Given the description of an element on the screen output the (x, y) to click on. 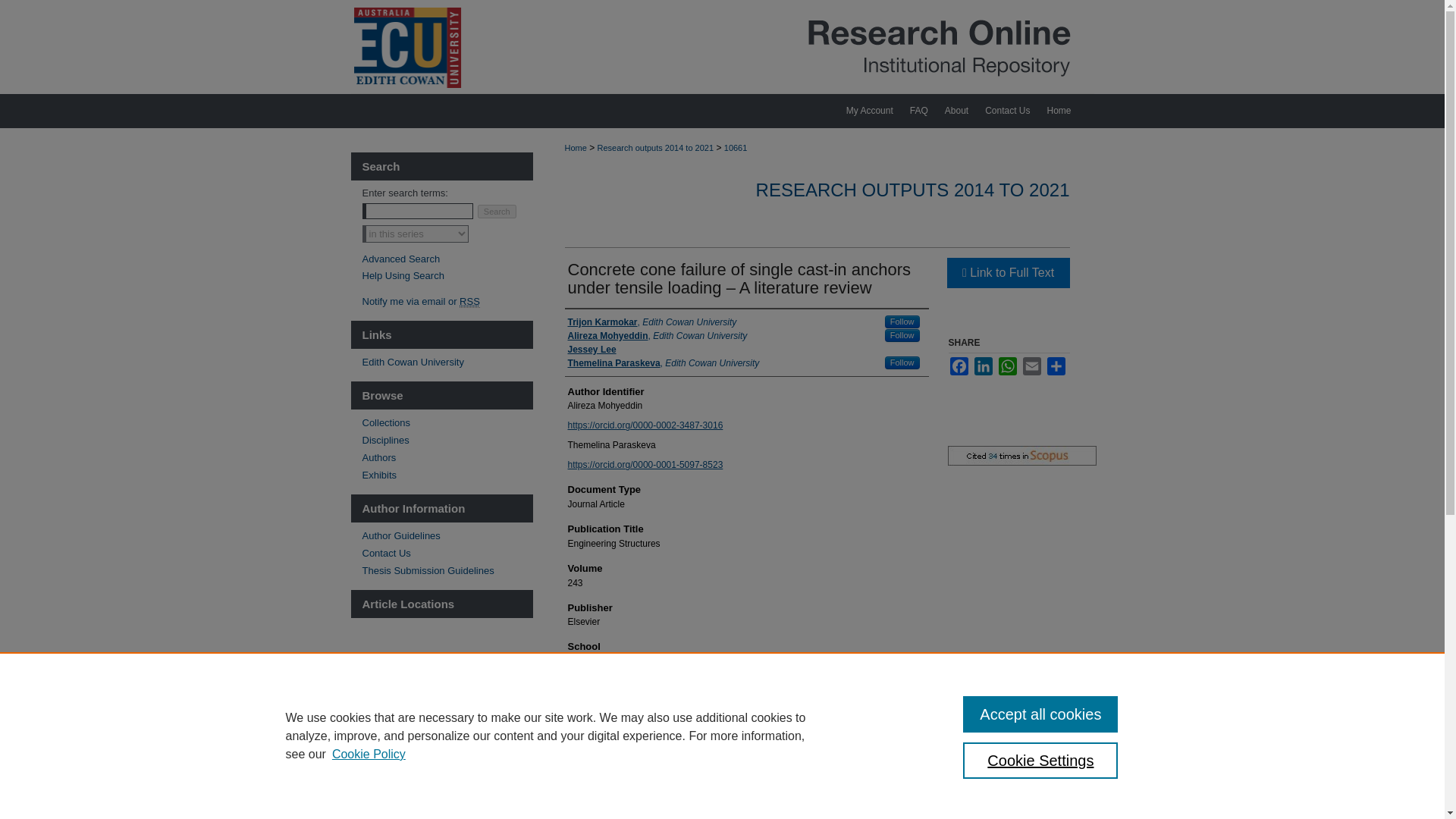
About (956, 110)
Home (1065, 110)
Research outputs 2014 to 2021 (655, 147)
Search (496, 211)
About (956, 110)
Follow Themelina Paraskeva (902, 362)
LinkedIn (982, 366)
Home (575, 147)
Follow (902, 362)
Search (496, 211)
Help Using Search (403, 275)
ORCID link (644, 425)
Follow (902, 335)
Email (1031, 366)
Advanced Search (401, 258)
